Given the description of an element on the screen output the (x, y) to click on. 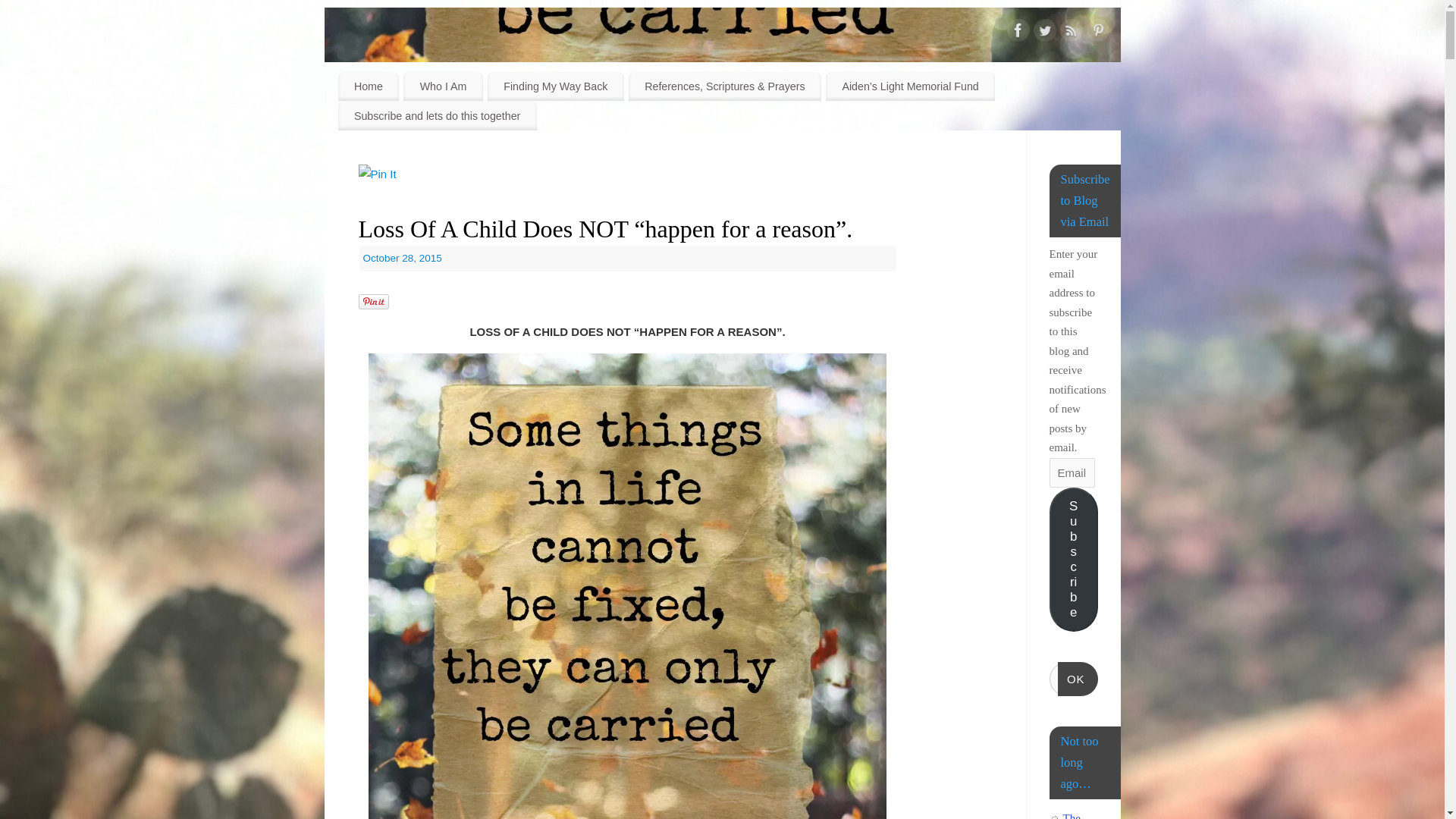
Facebook (1018, 32)
Pin It (377, 174)
8:12 AM (401, 257)
Subscribe and lets do this together (437, 114)
RSS (1071, 32)
Pin It (373, 301)
October 28, 2015 (401, 257)
Pinterest (1097, 32)
Finding My Way Back (555, 86)
Twitter (1043, 32)
Who I Am (443, 86)
Home (367, 86)
